Given the description of an element on the screen output the (x, y) to click on. 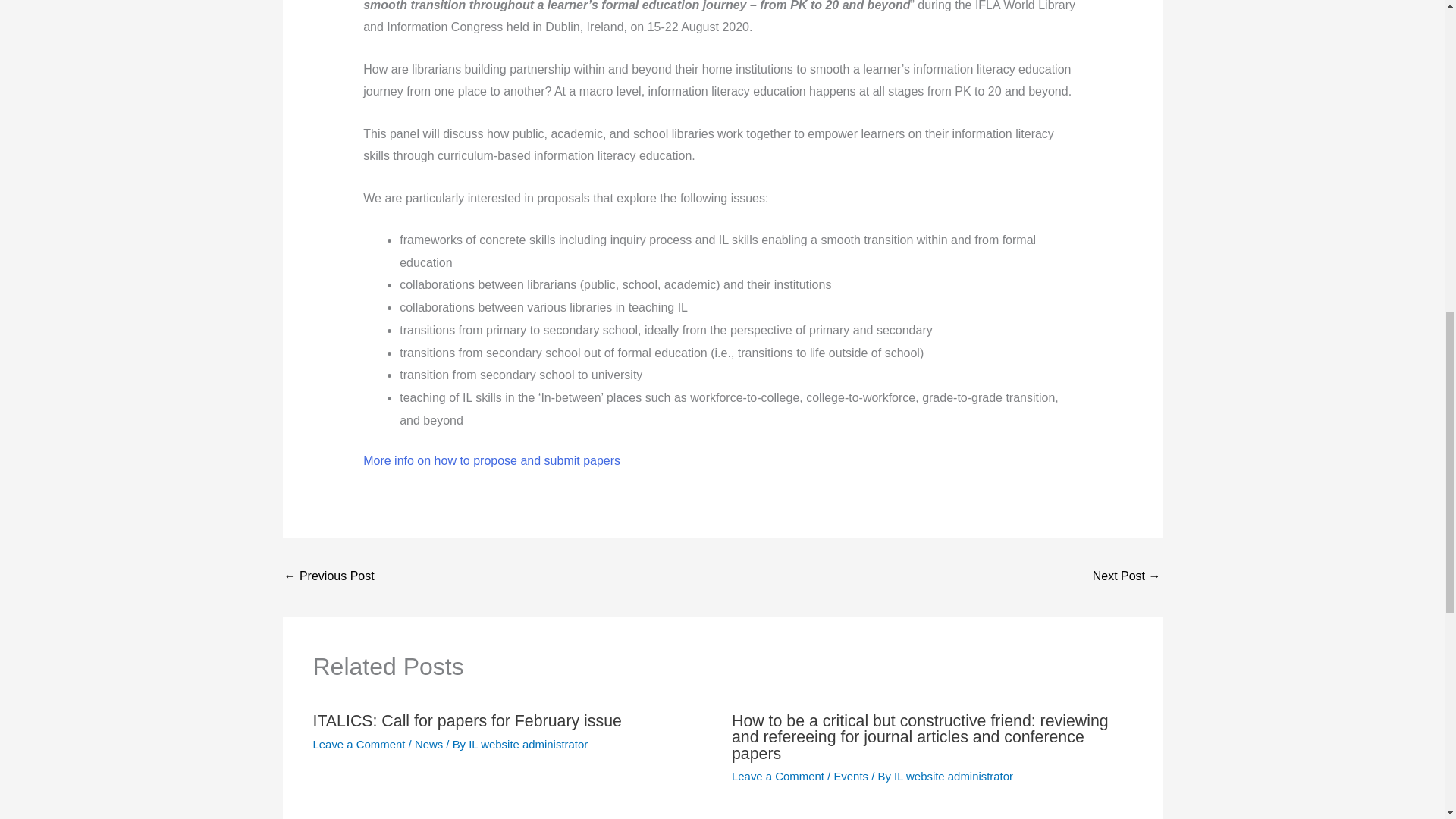
View all posts by IL website administrator (528, 744)
View all posts by IL website administrator (953, 775)
Fifty shades of bias (1126, 577)
